Given the description of an element on the screen output the (x, y) to click on. 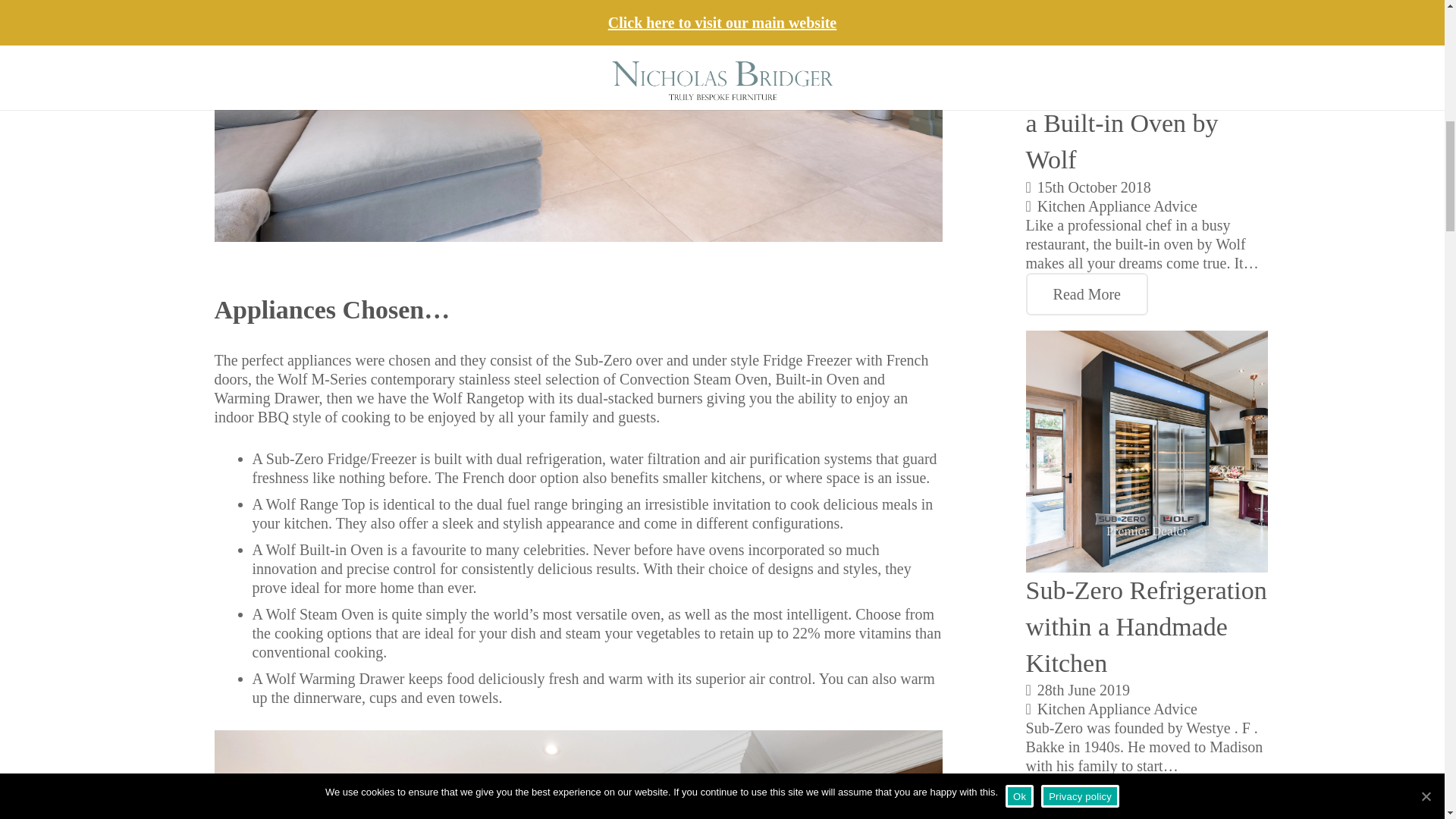
Read More (1087, 293)
Back to top (30, 45)
Sub-Zero Refrigeration within a Handmade Kitchen (1146, 626)
Kitchen Appliance Advice (1116, 709)
Read More (1087, 796)
Kitchen Appliance Advice (1116, 205)
